Given the description of an element on the screen output the (x, y) to click on. 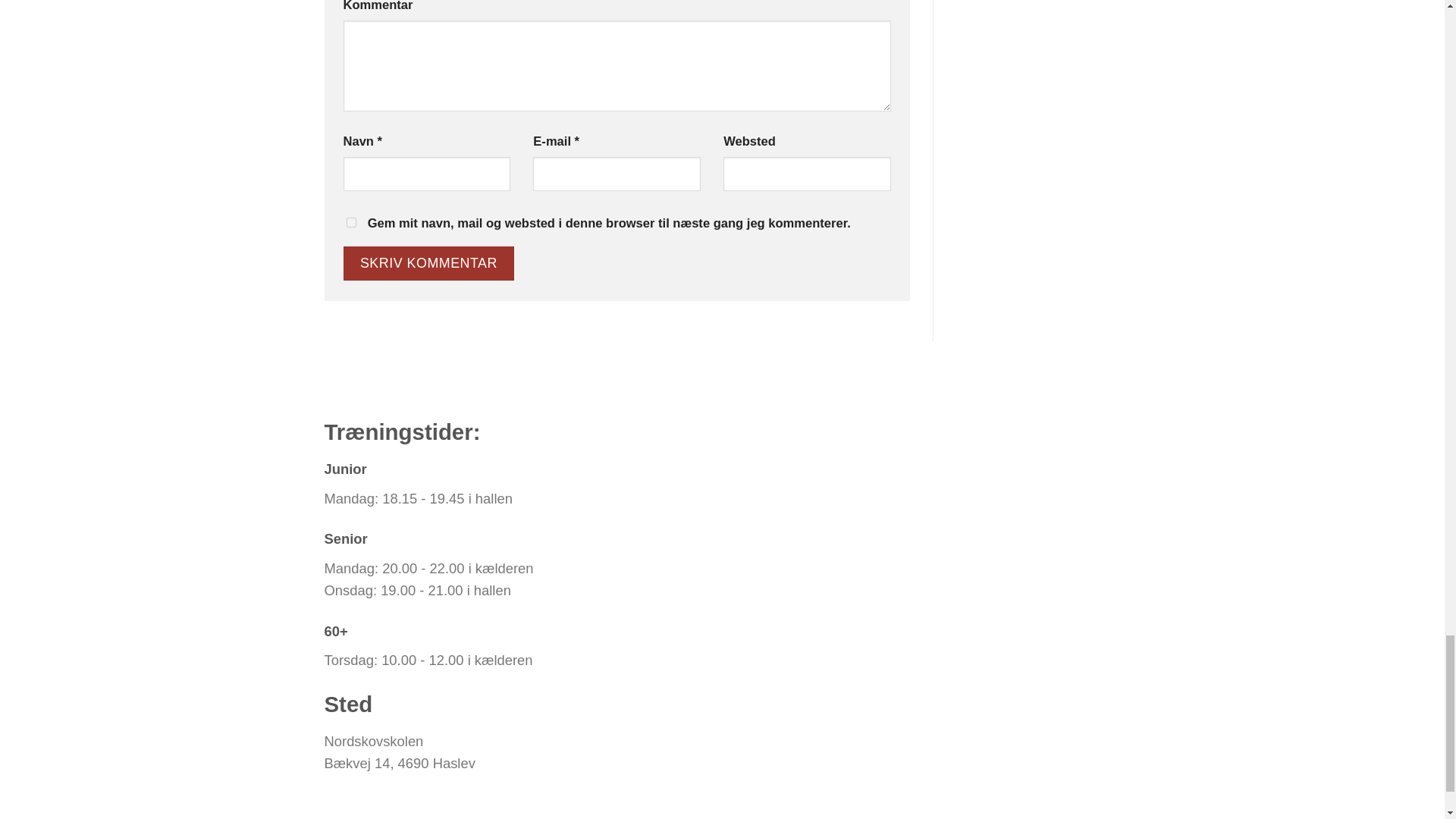
Skriv kommentar (427, 263)
yes (350, 222)
Skriv kommentar (427, 263)
